Given the description of an element on the screen output the (x, y) to click on. 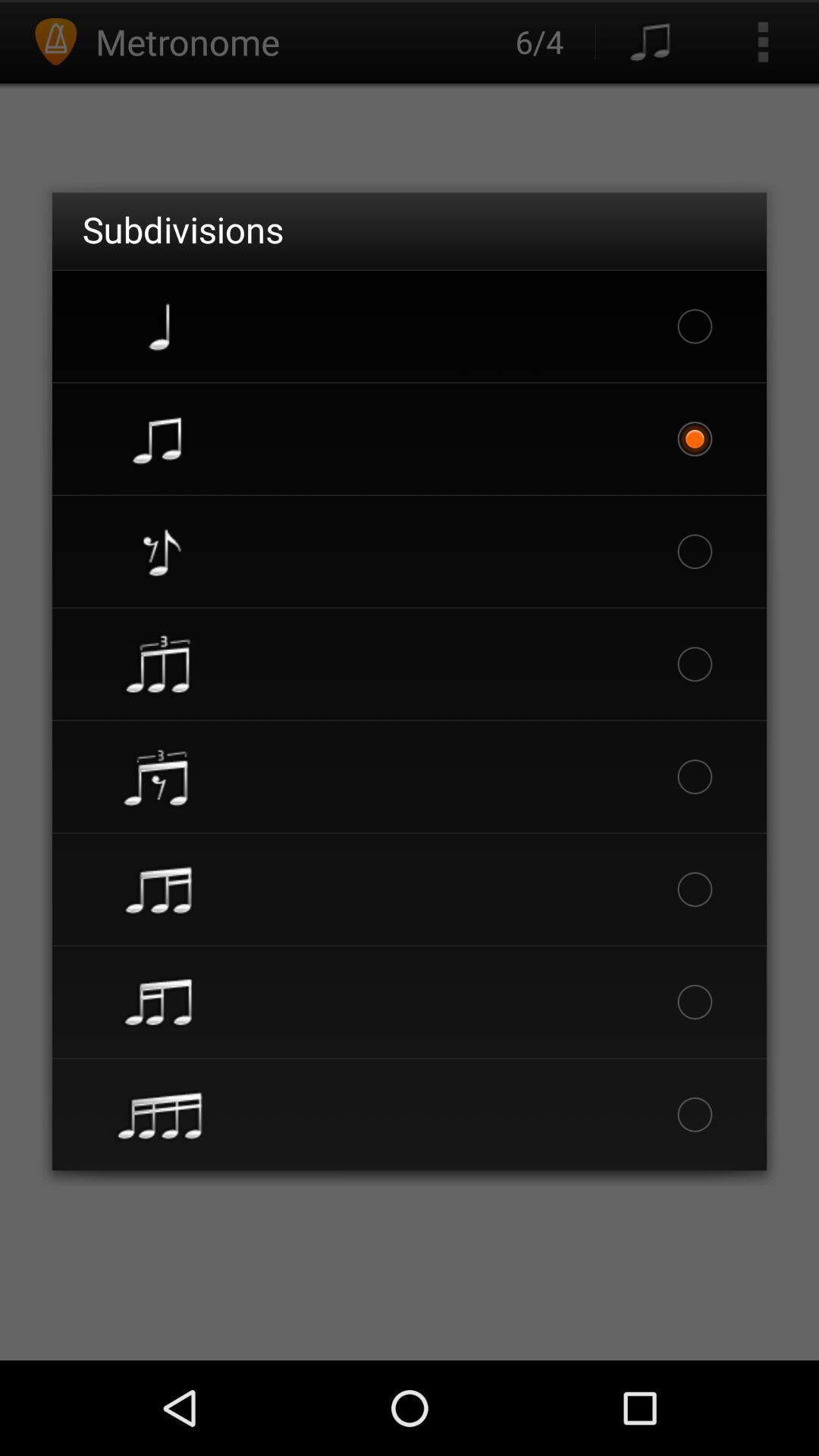
flip to subdivisions icon (182, 229)
